Given the description of an element on the screen output the (x, y) to click on. 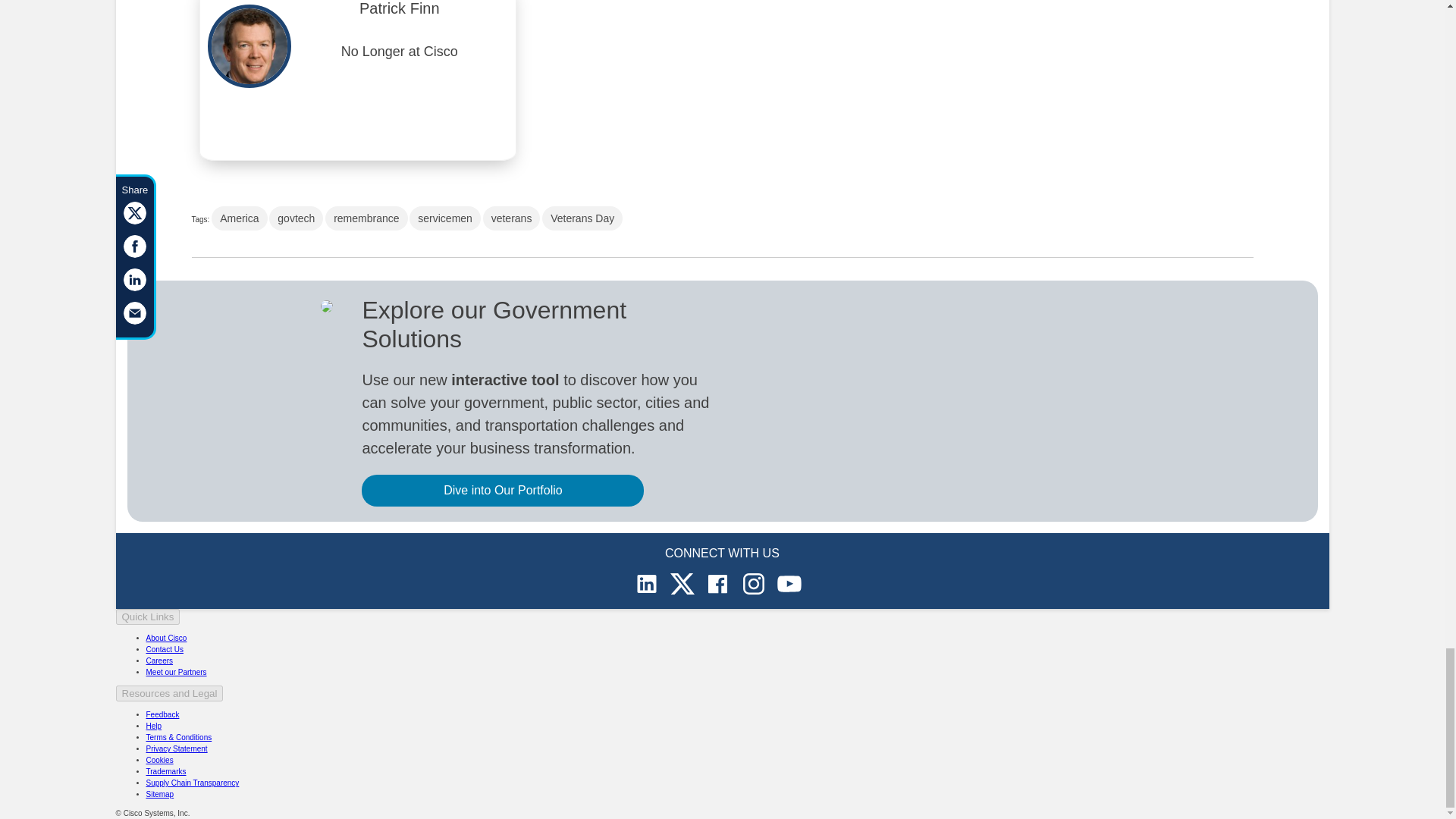
servicemen (444, 218)
Veterans Day (582, 218)
Patrick Finn (399, 13)
Dive into Our Portfolio (502, 490)
veterans (511, 218)
remembrance (365, 218)
America (238, 218)
govtech (296, 218)
